Given the description of an element on the screen output the (x, y) to click on. 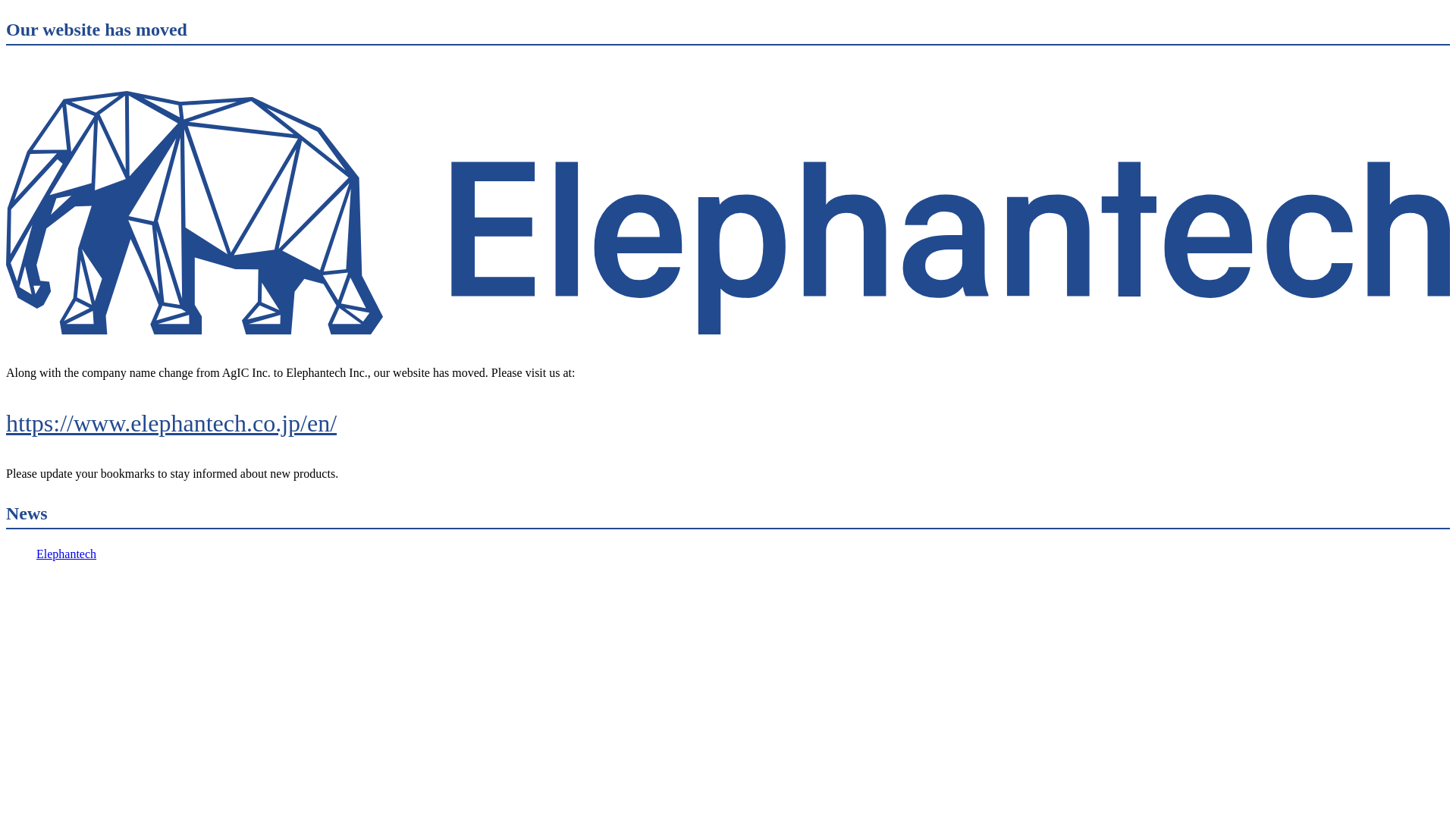
Elephantech Element type: text (66, 553)
https://www.elephantech.co.jp/en/ Element type: text (727, 422)
